Given the description of an element on the screen output the (x, y) to click on. 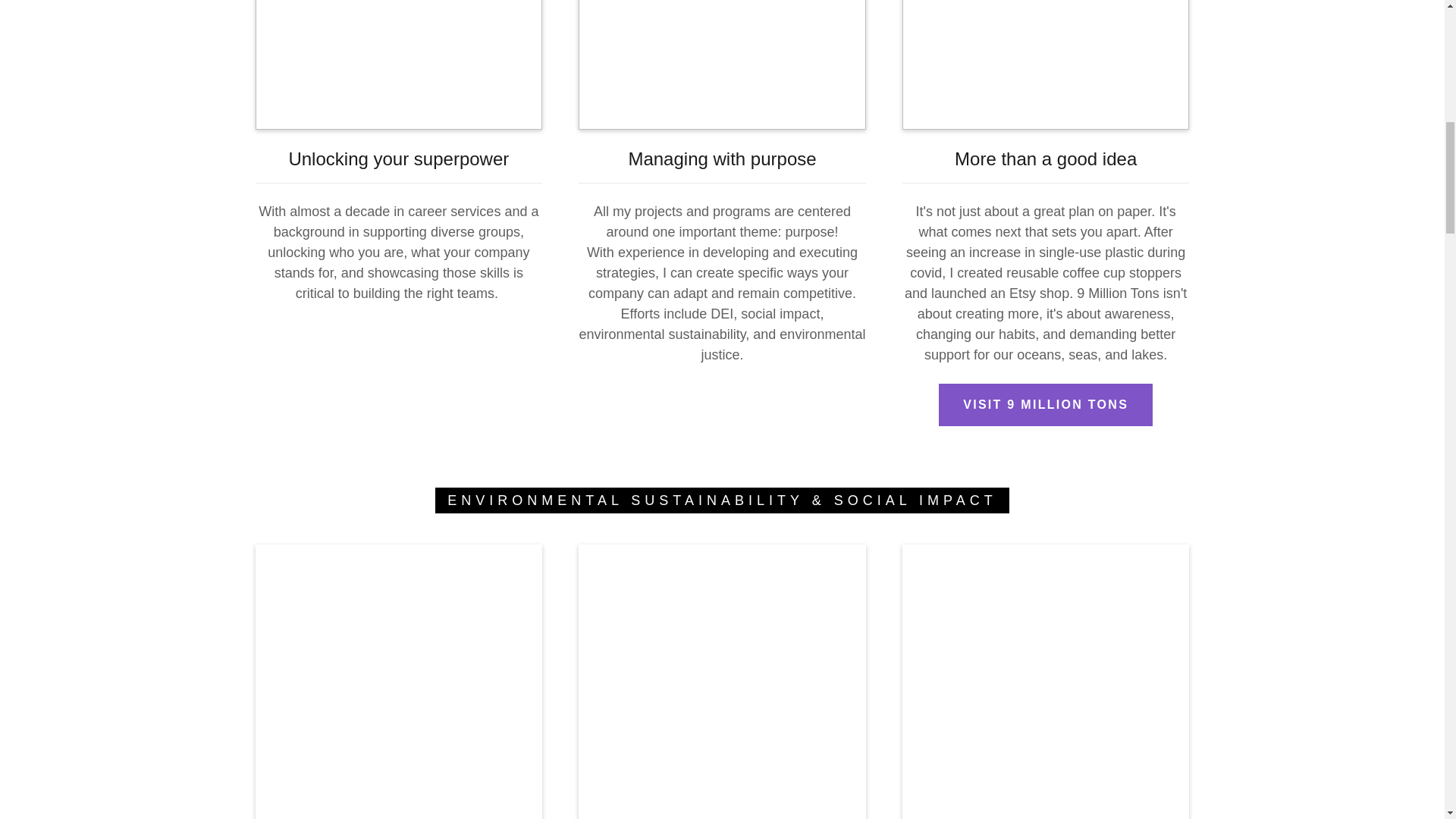
ACCEPT (1345, 324)
DECLINE (1203, 324)
VISIT 9 MILLION TONS (1046, 404)
